Given the description of an element on the screen output the (x, y) to click on. 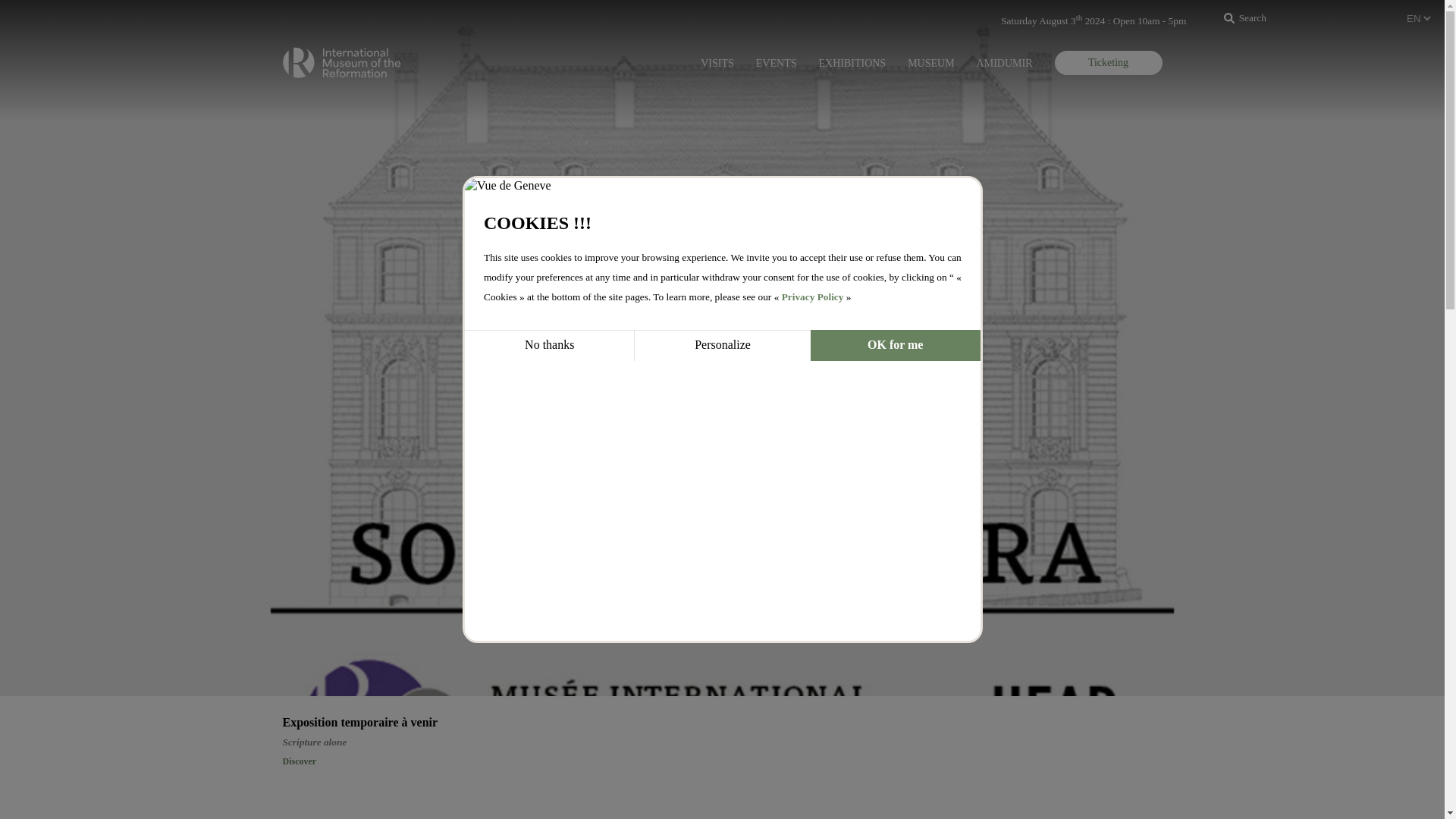
MUSEUM (930, 62)
VISITS (716, 62)
Discover (298, 760)
EXHIBITIONS (851, 62)
Ticketing (1107, 62)
EVENTS (775, 62)
AMIDUMIR (1004, 62)
